Given the description of an element on the screen output the (x, y) to click on. 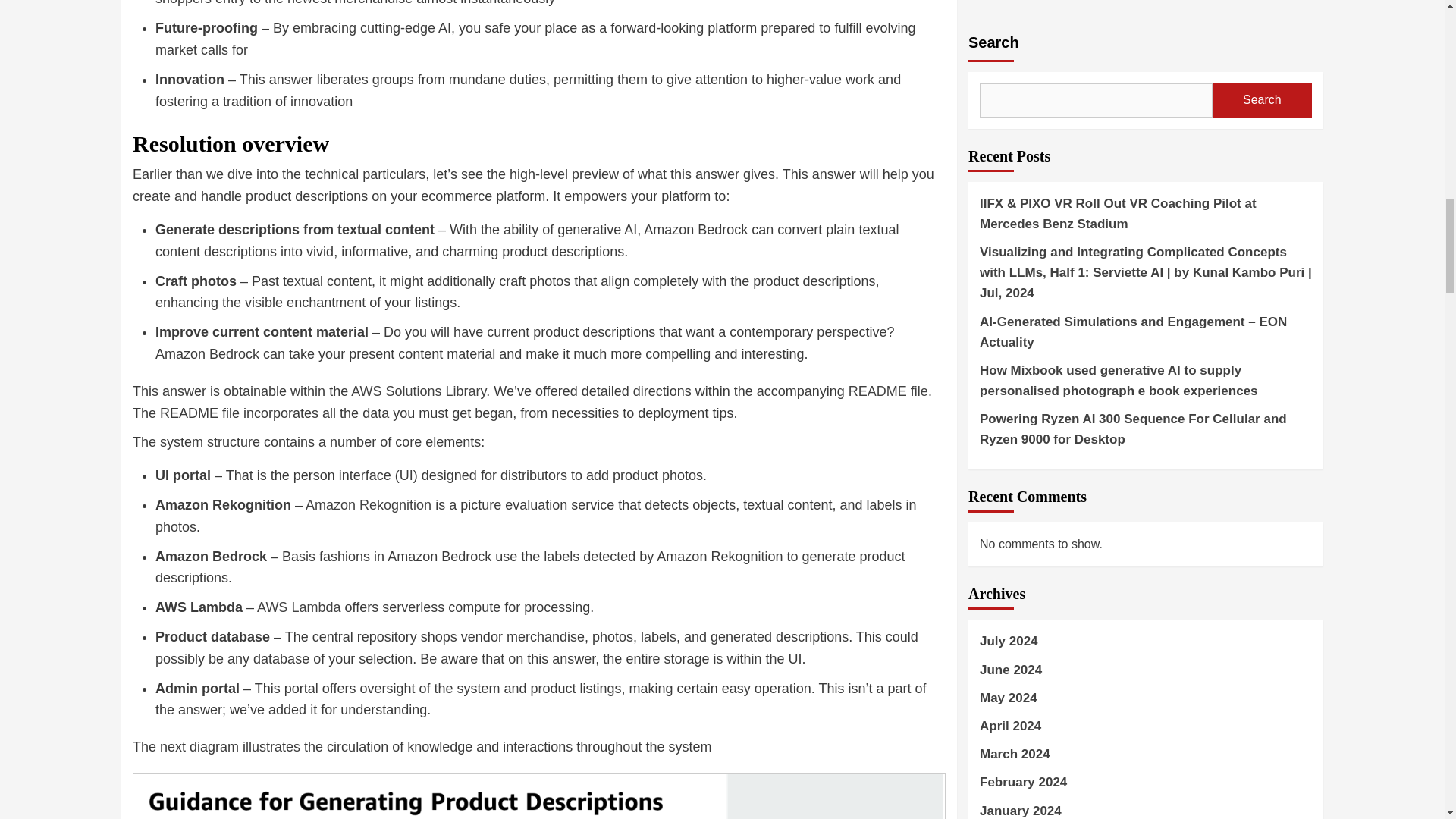
Amazon Rekognition (367, 504)
README file (888, 391)
AWS Solutions Library (418, 391)
AWS Lambda (298, 607)
